Given the description of an element on the screen output the (x, y) to click on. 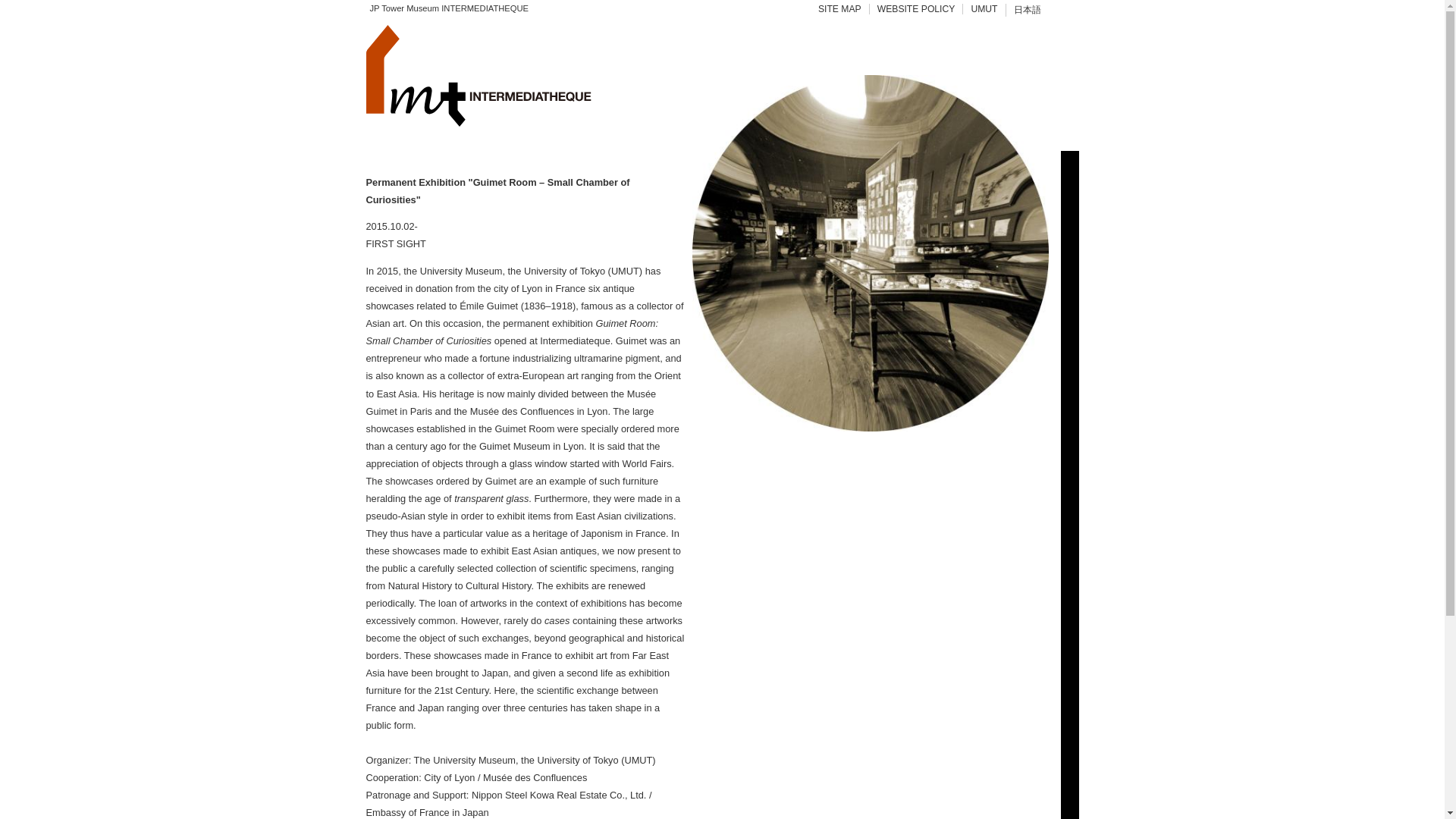
WEBSITE POLICY (915, 9)
SITE MAP (839, 9)
UMUT (983, 9)
